Given the description of an element on the screen output the (x, y) to click on. 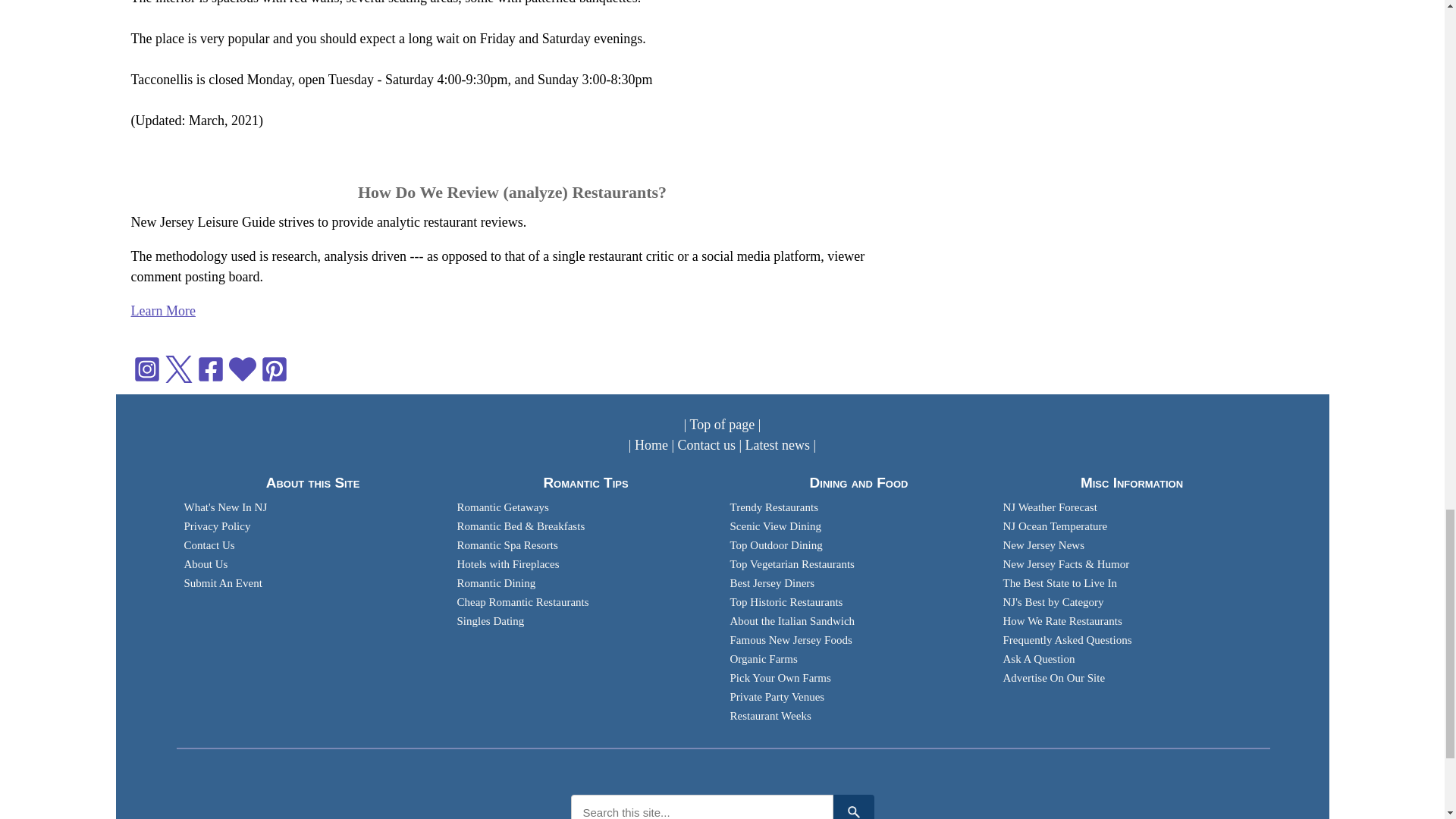
DuckDuckGo Search (852, 806)
Follow us on Linkedin (241, 367)
